Given the description of an element on the screen output the (x, y) to click on. 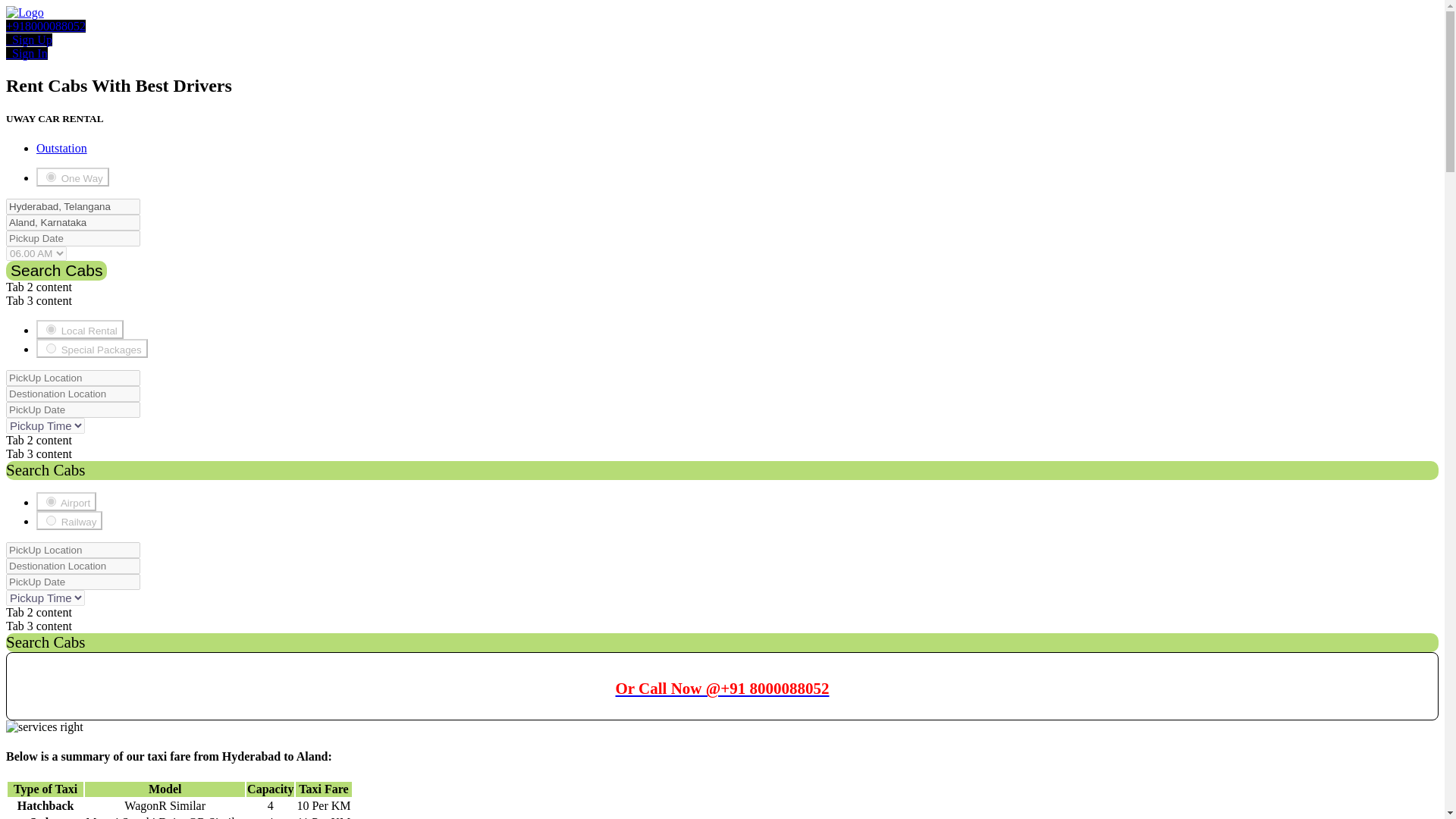
Local Rental (79, 329)
Railway (68, 520)
Airport (66, 501)
option2 (51, 347)
Outstation (61, 147)
Aland, Karnataka (72, 222)
One Way (72, 176)
  Sign Up (28, 39)
option1 (51, 329)
  Sign In (26, 52)
option1 (51, 176)
Search Cabs (55, 270)
Special Packages (92, 348)
Hyderabad, Telangana (72, 206)
option2 (51, 520)
